Given the description of an element on the screen output the (x, y) to click on. 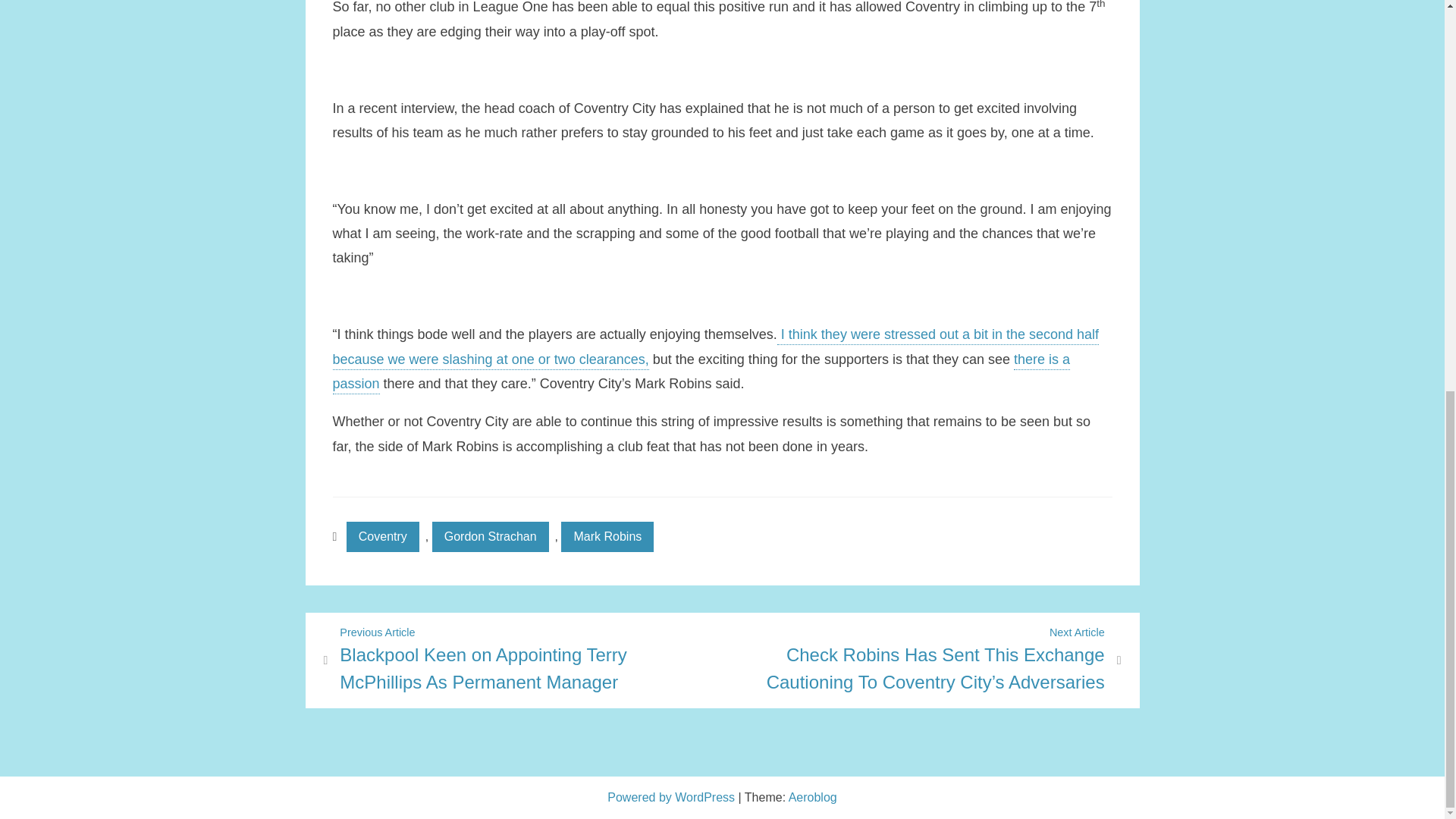
Coventry (382, 536)
Mark Robins (606, 536)
there is a passion (700, 372)
Gordon Strachan (490, 536)
Powered by WordPress (672, 797)
Aeroblog (813, 797)
